Given the description of an element on the screen output the (x, y) to click on. 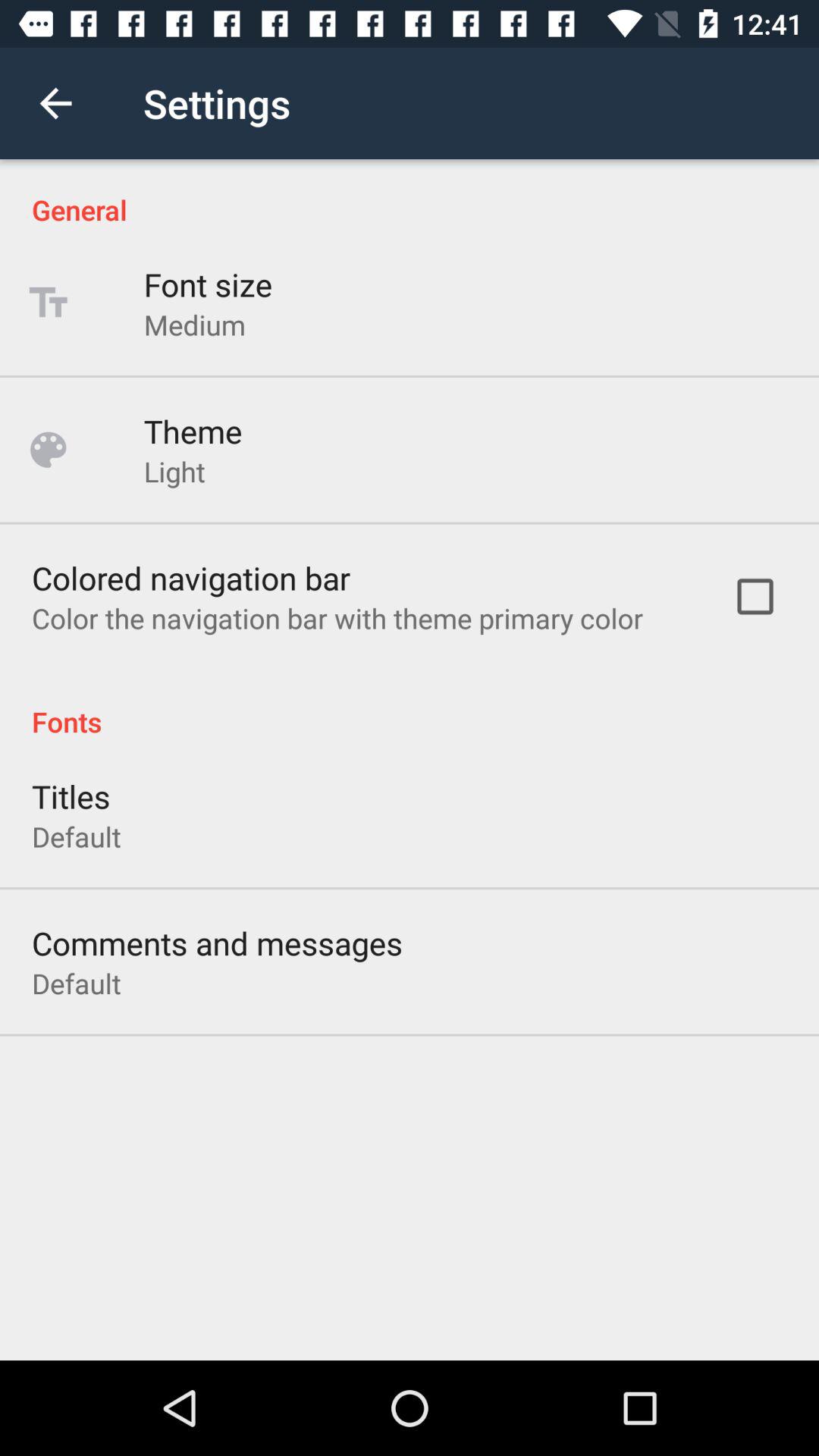
turn on icon below color the navigation item (409, 705)
